Given the description of an element on the screen output the (x, y) to click on. 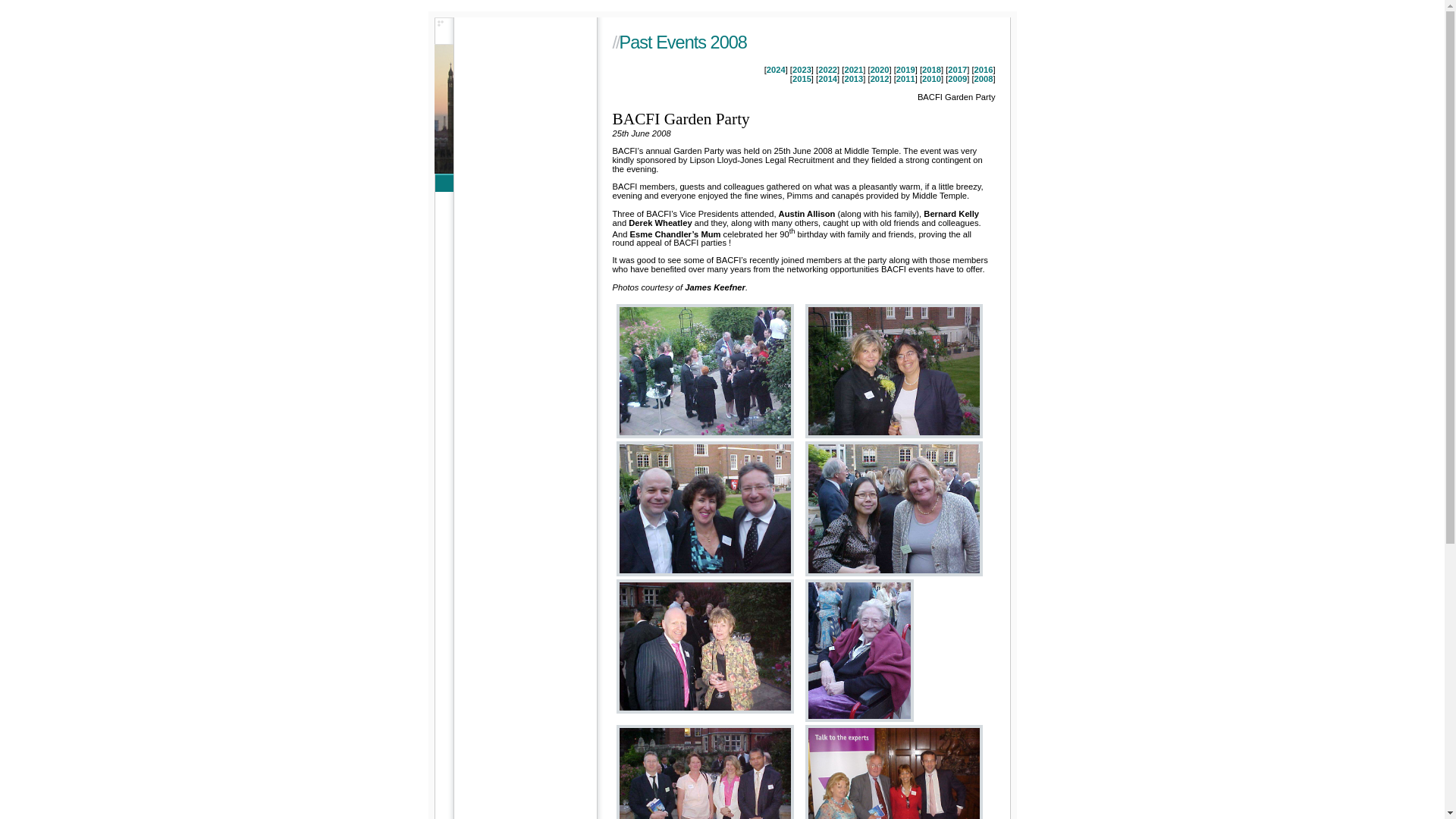
2015 (801, 78)
2022 (827, 69)
2021 (853, 69)
2016 (983, 69)
2020 (879, 69)
2017 (956, 69)
2012 (879, 78)
2013 (853, 78)
2011 (905, 78)
2024 (776, 69)
